Given the description of an element on the screen output the (x, y) to click on. 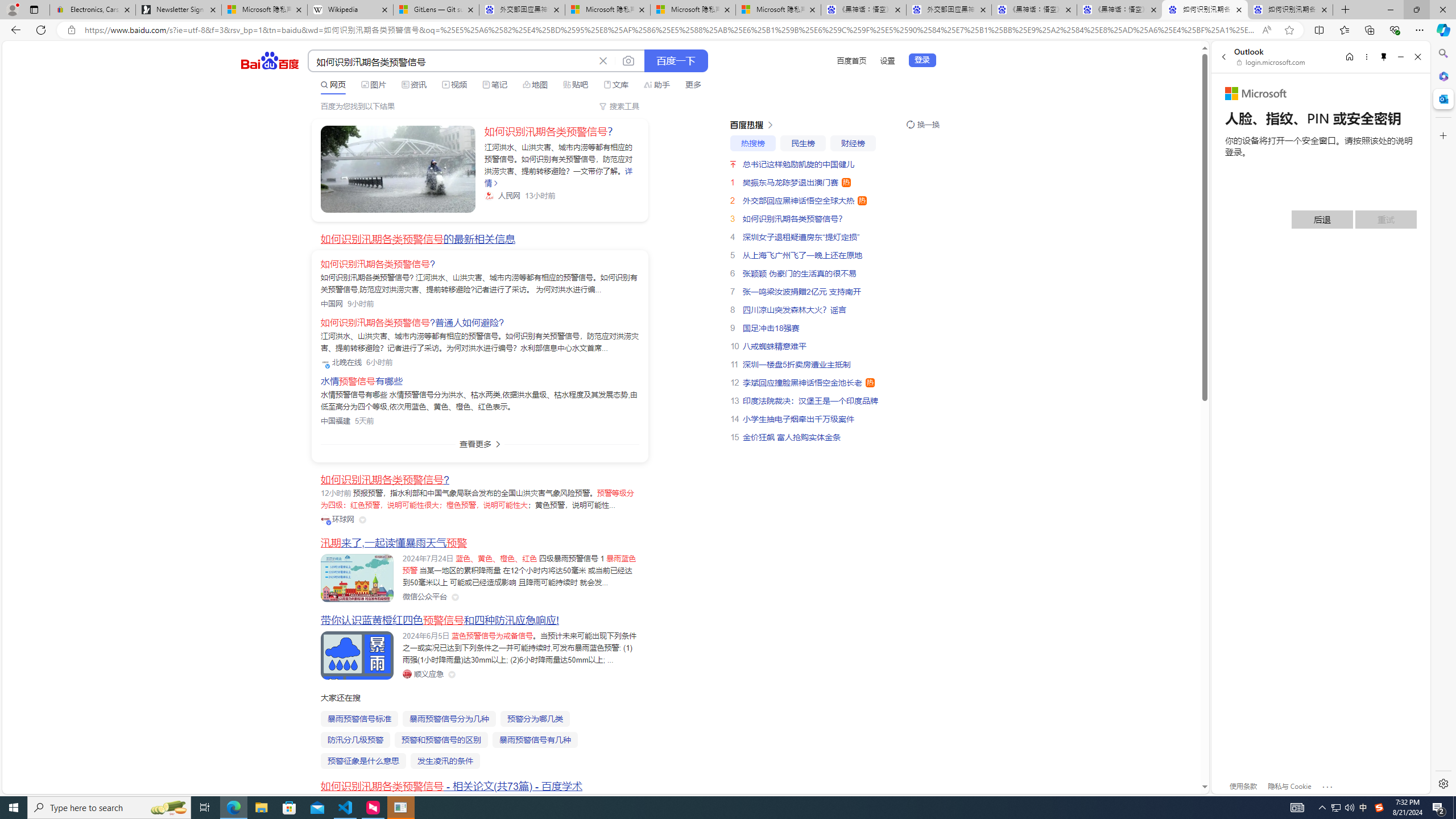
Class: siteLink_9TPP3 (423, 673)
